Given the description of an element on the screen output the (x, y) to click on. 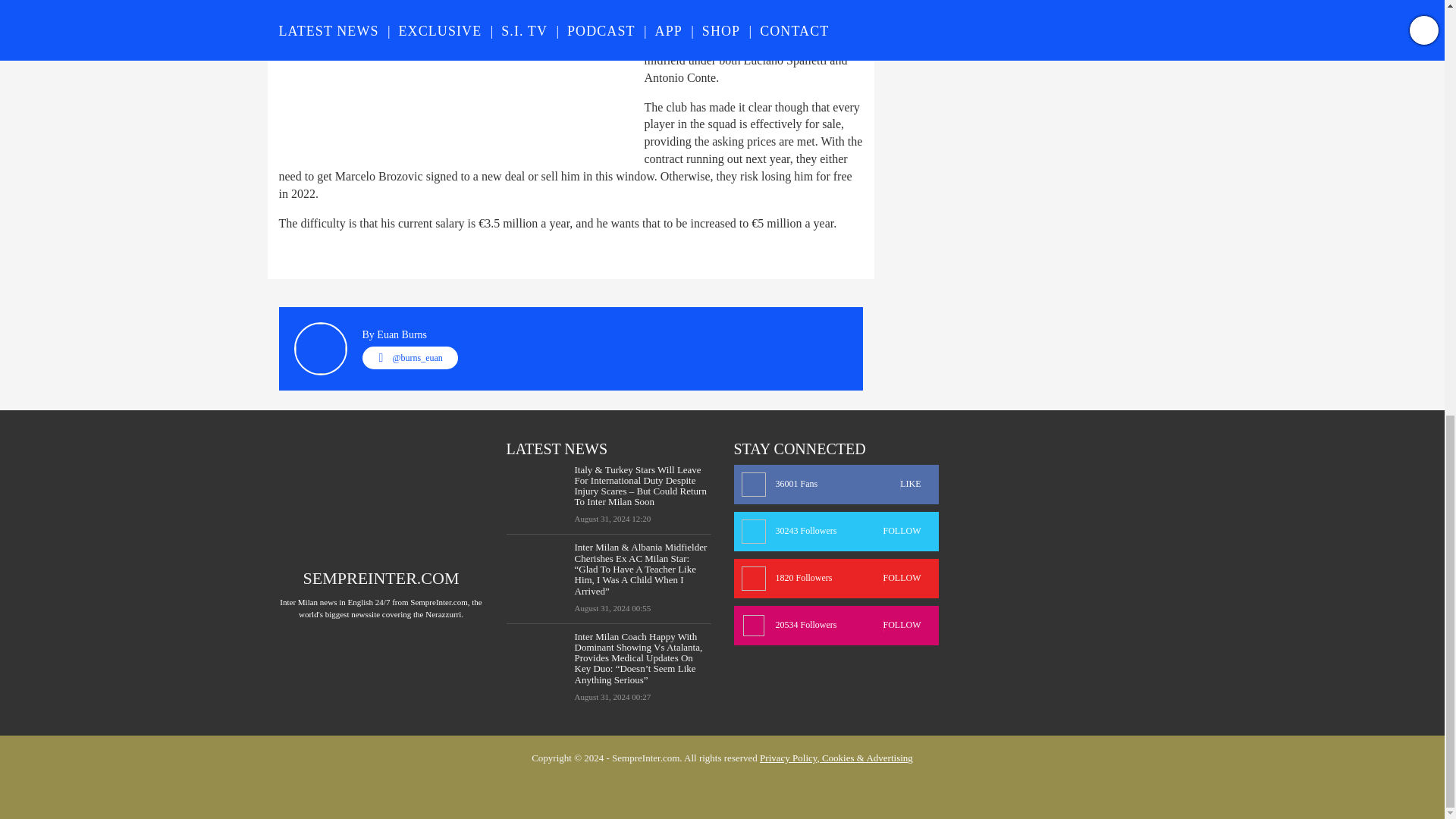
Euan Burns (401, 334)
View more articles by Euan Burns (401, 334)
SEMPREINTER.COM (381, 578)
